Given the description of an element on the screen output the (x, y) to click on. 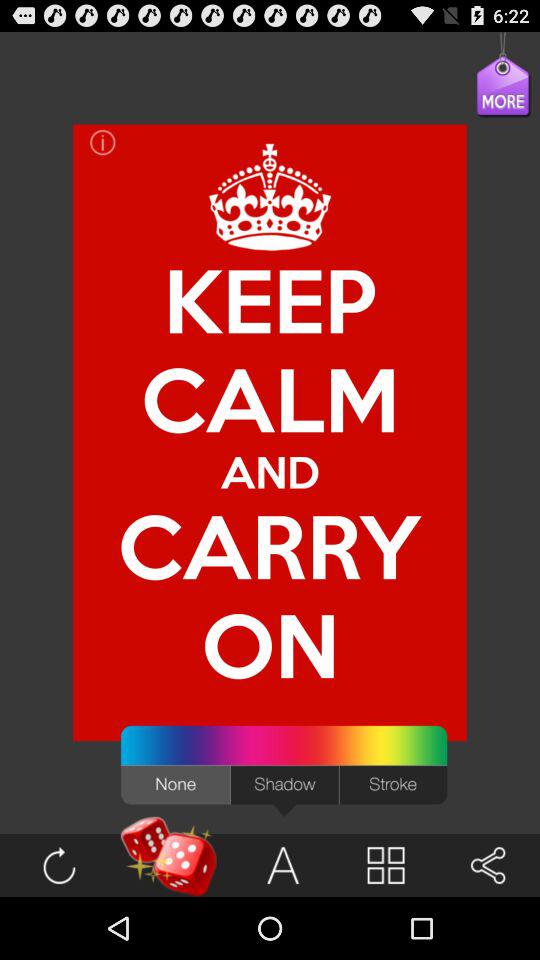
swipe until keep item (269, 299)
